Given the description of an element on the screen output the (x, y) to click on. 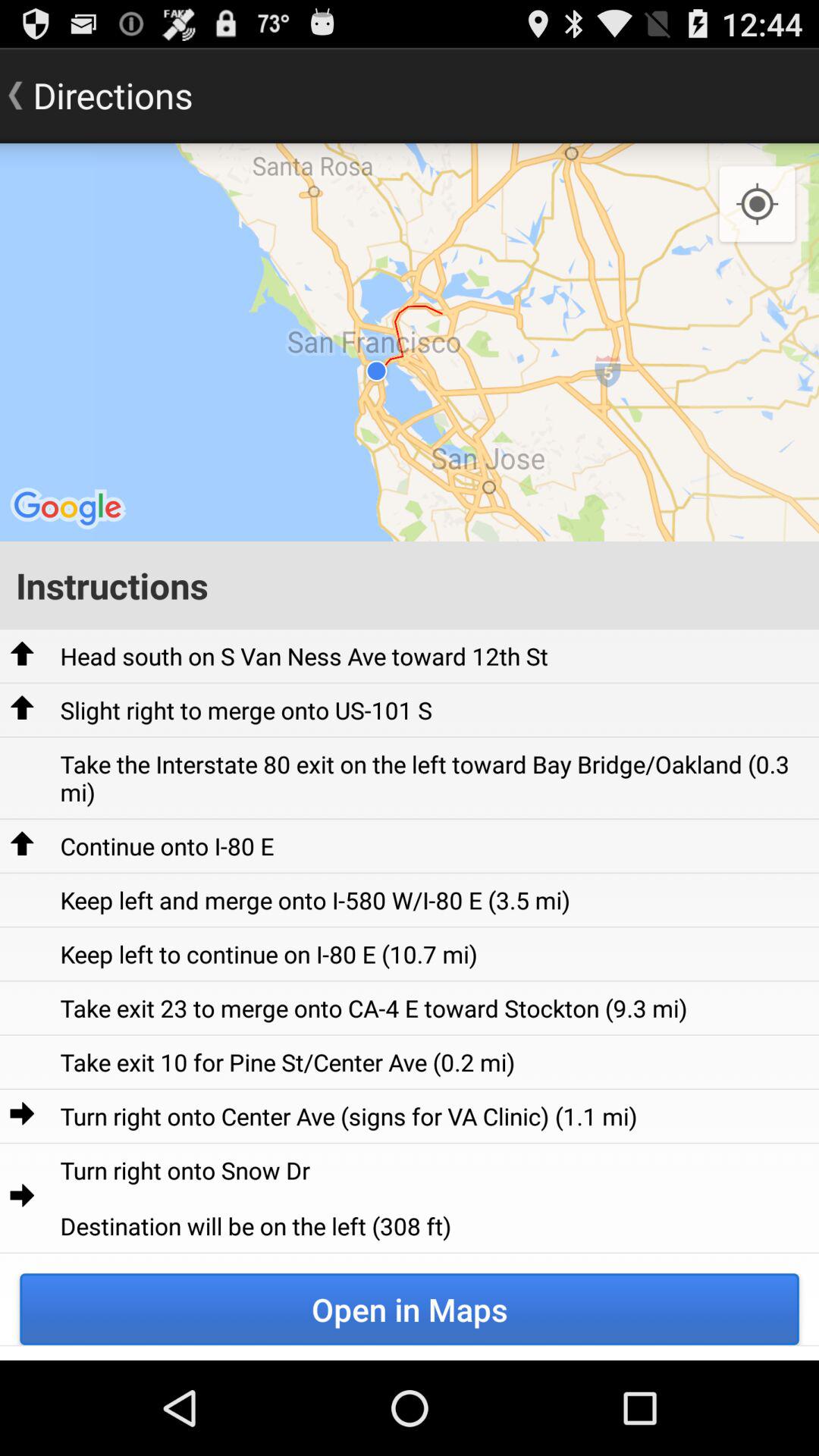
tap icon next to the up (246, 709)
